Given the description of an element on the screen output the (x, y) to click on. 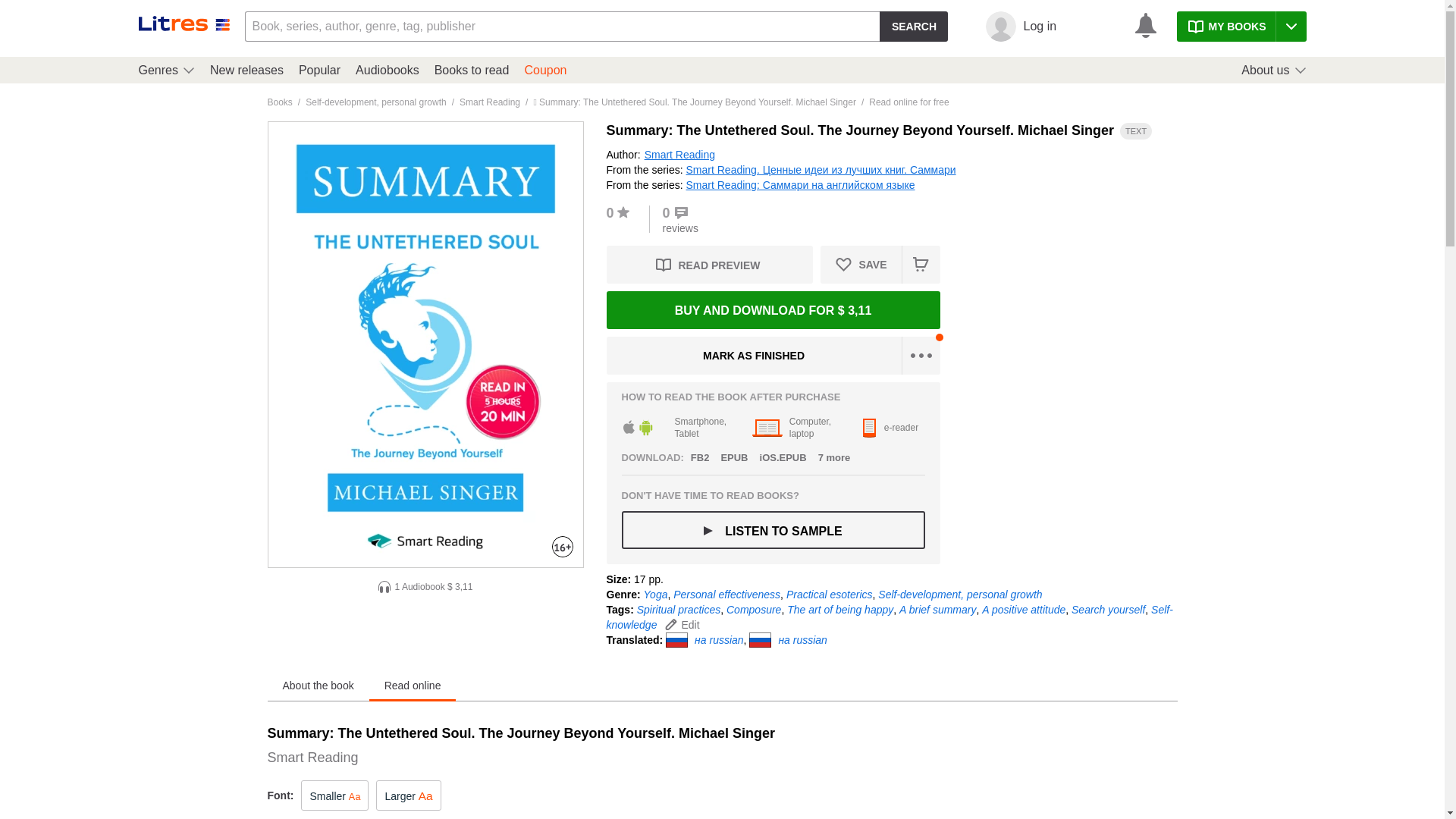
e-reader (893, 427)
Books (279, 102)
SEARCH (913, 26)
Rate the book (622, 213)
Log in (1053, 26)
Audiobooks (387, 69)
Self-development, personal growth (375, 102)
Litres (192, 38)
New releases (246, 69)
MY BOOKS (1241, 26)
